Given the description of an element on the screen output the (x, y) to click on. 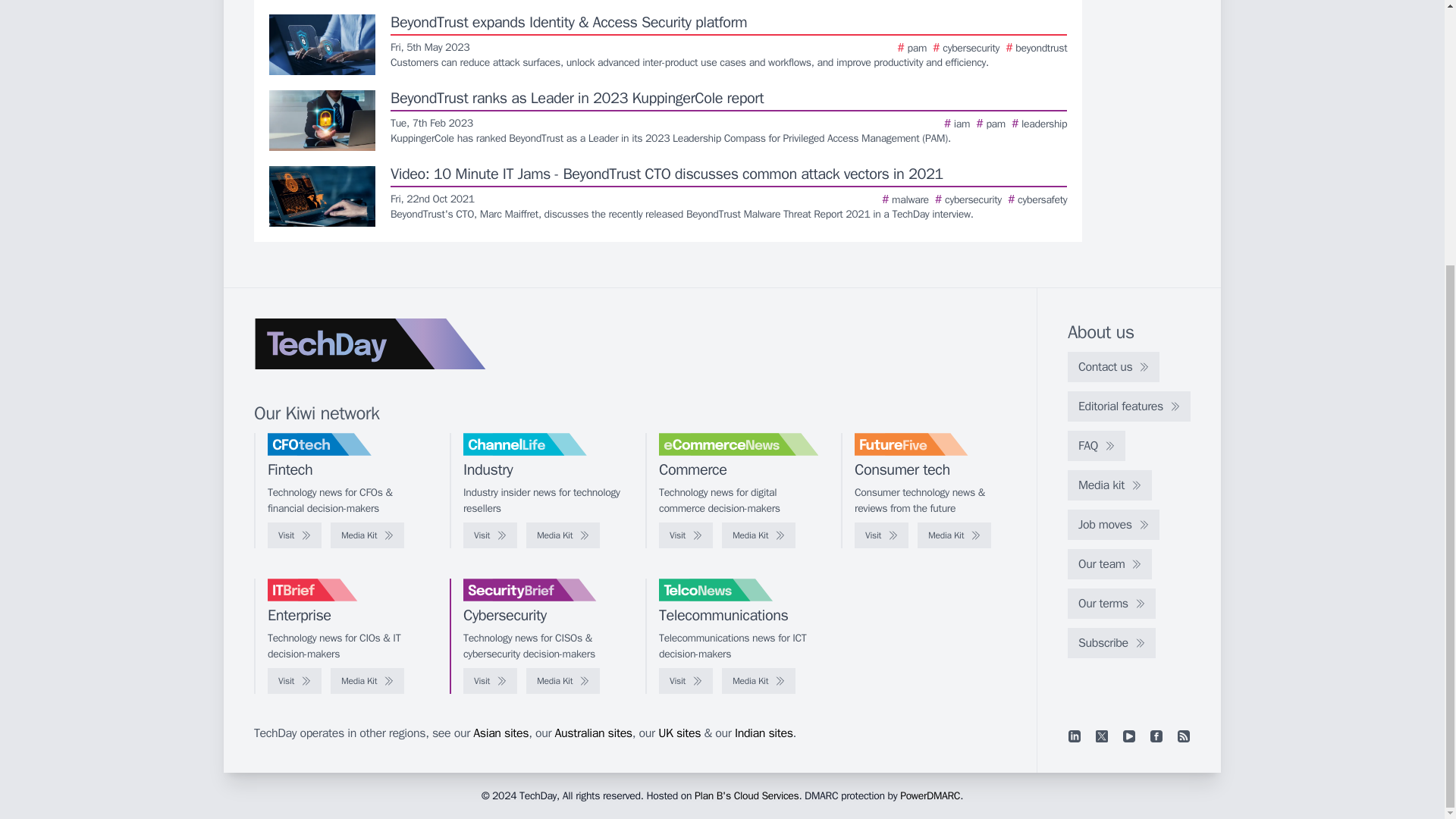
Contact us (1112, 367)
Indian sites (764, 733)
Visit (489, 534)
Media Kit (367, 534)
Media Kit (758, 680)
Visit (881, 534)
Visit (294, 680)
Visit (294, 534)
Media Kit (758, 534)
Media Kit (954, 534)
